Given the description of an element on the screen output the (x, y) to click on. 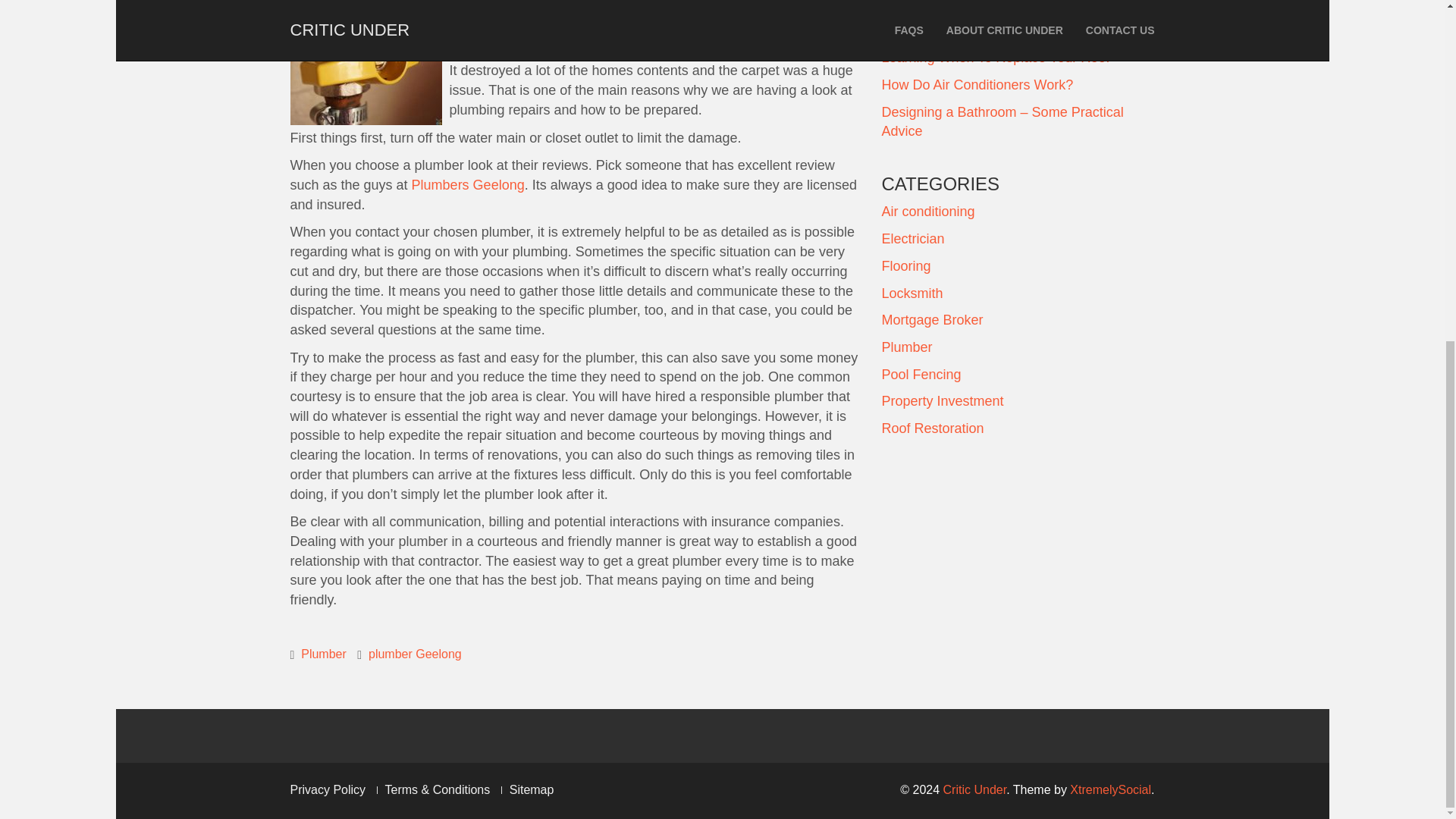
Mortgage Broker (931, 319)
Flooring (905, 265)
Locksmith (911, 293)
Roof Restoration (932, 427)
Sitemap (531, 789)
Property Investment (941, 400)
Air conditioning (927, 211)
XtremelySocial (1110, 789)
The Different Types Of Epoxy Flooring And Their Uses (1010, 21)
Plumber (323, 653)
